Given the description of an element on the screen output the (x, y) to click on. 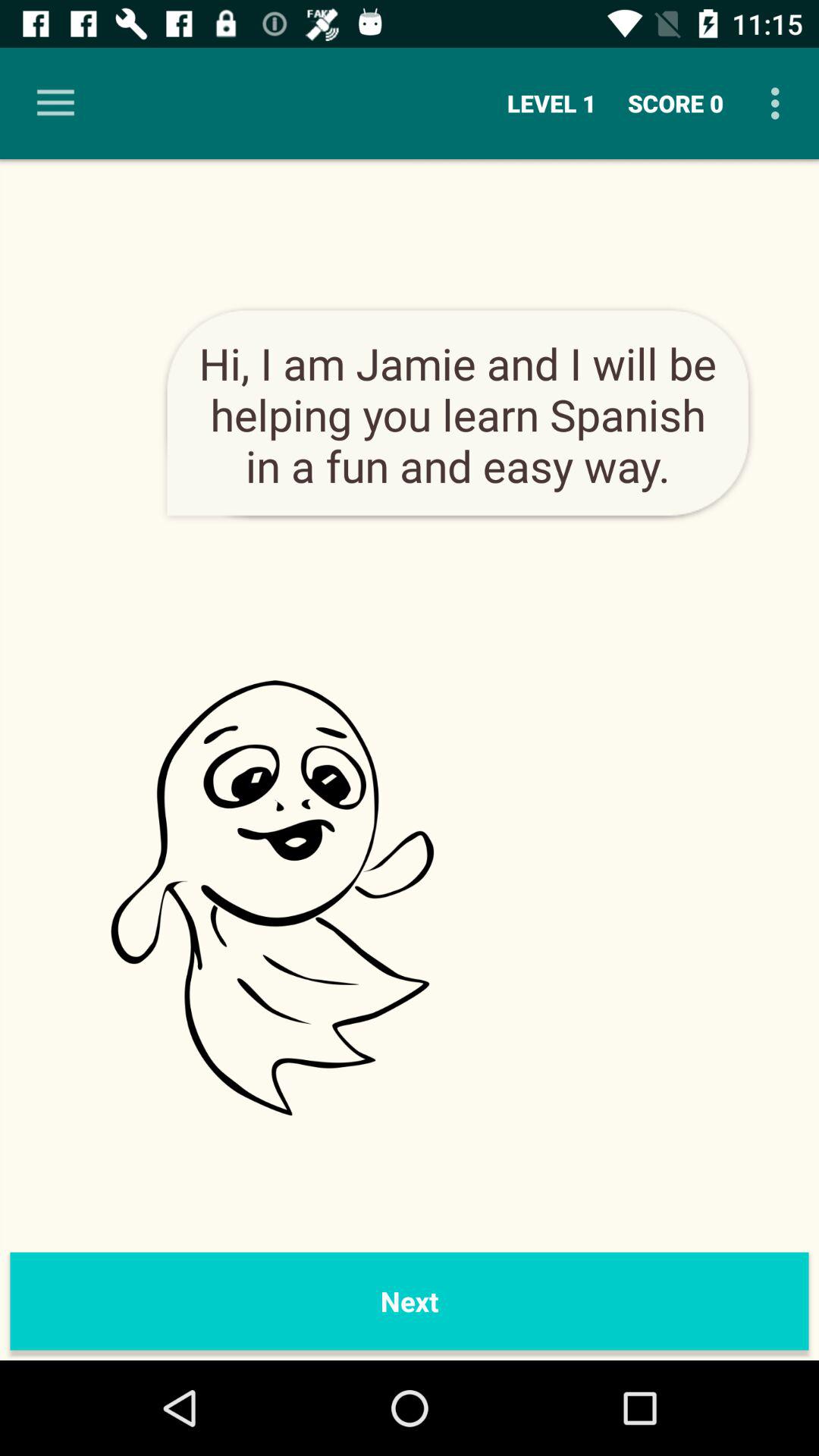
turn on the icon next to the level 1 (675, 103)
